Given the description of an element on the screen output the (x, y) to click on. 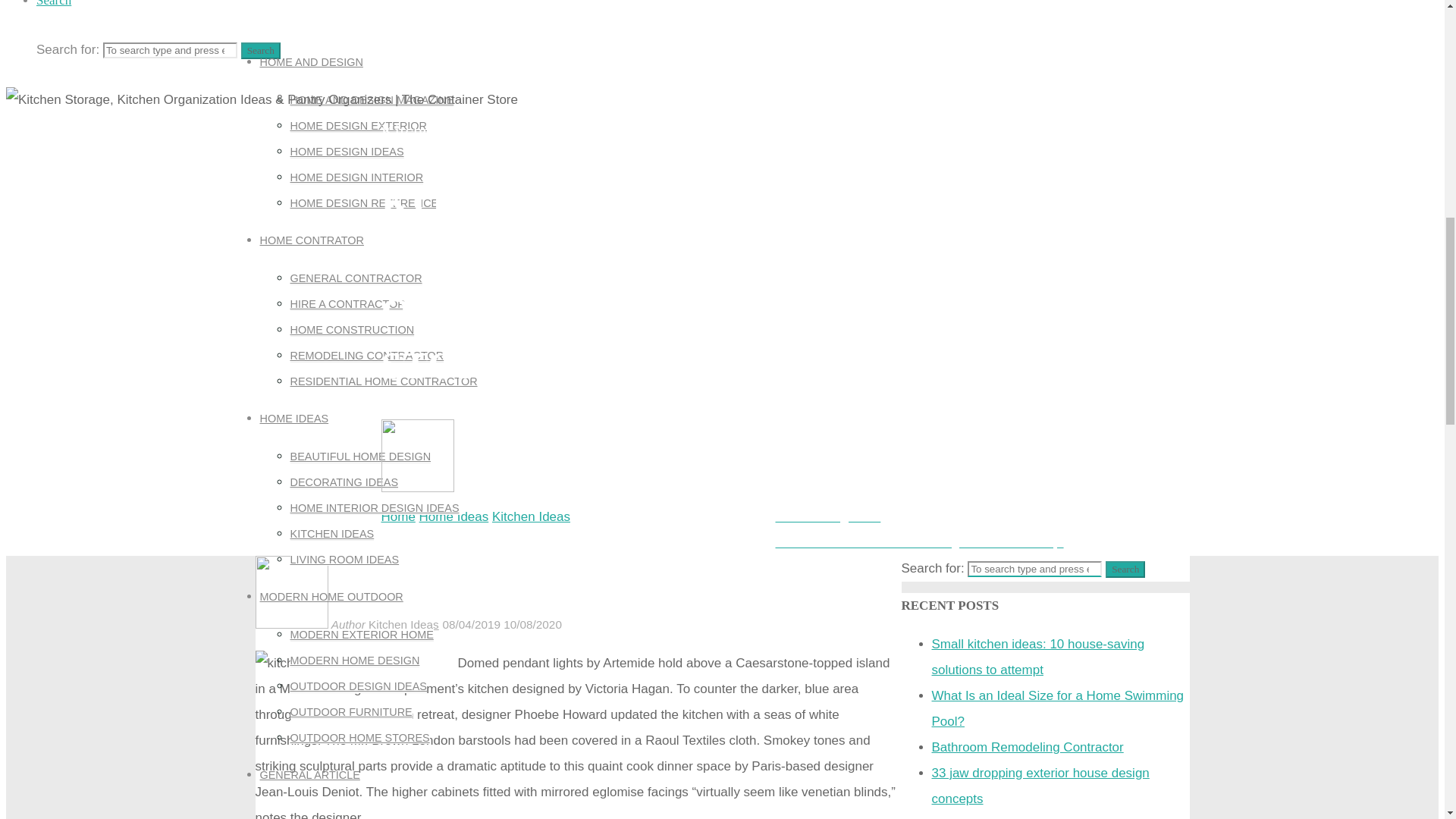
Search (53, 3)
HOME DESIGN INTERIOR (356, 177)
HOME AND DESIGN (310, 61)
Search (261, 50)
HOME DESIGN REFERENCE (363, 203)
HOME DESIGN IDEAS (346, 151)
HOME AND DESIGN MAGAZINE (370, 100)
Home (397, 516)
View all posts by Author (347, 624)
View all posts by Author (483, 485)
